Given the description of an element on the screen output the (x, y) to click on. 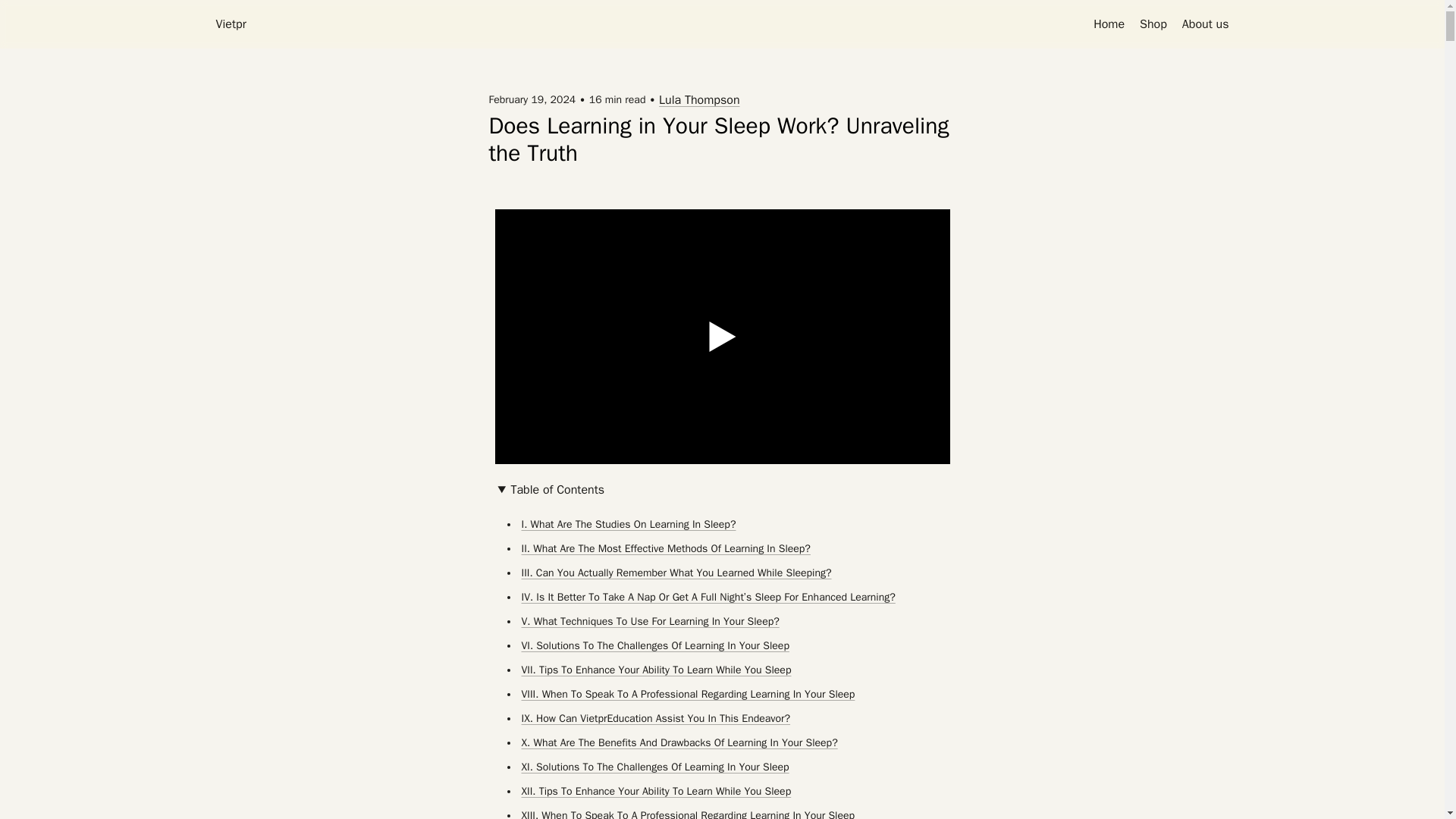
About us (1205, 24)
Lula Thompson (699, 99)
Vietpr (230, 24)
XI. Solutions To The Challenges Of Learning In Your Sleep (655, 767)
VI. Solutions To The Challenges Of Learning In Your Sleep (655, 645)
Home (1108, 24)
V. What Techniques To Use For Learning In Your Sleep? (649, 621)
